Given the description of an element on the screen output the (x, y) to click on. 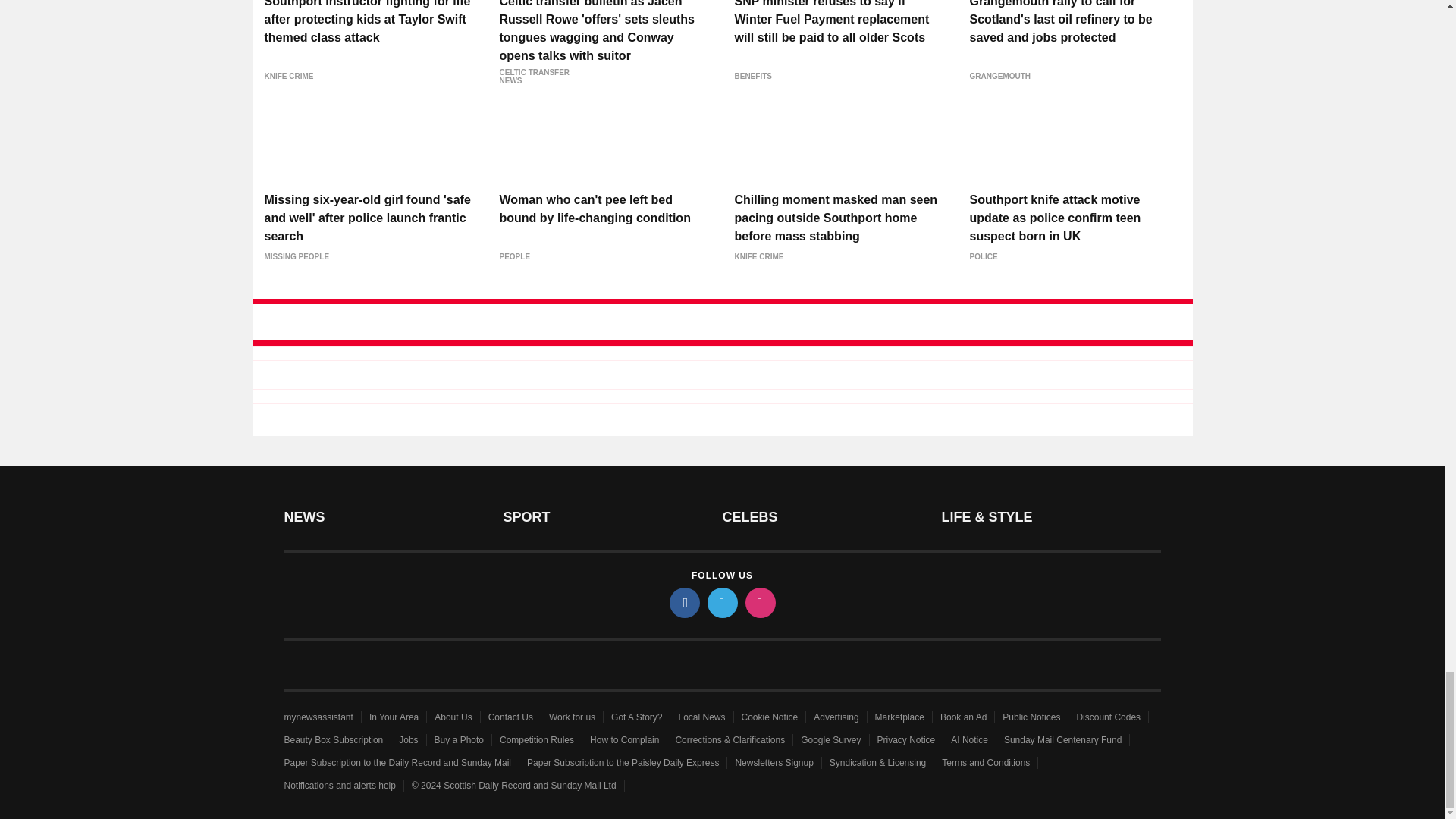
instagram (759, 603)
twitter (721, 603)
facebook (683, 603)
